Given the description of an element on the screen output the (x, y) to click on. 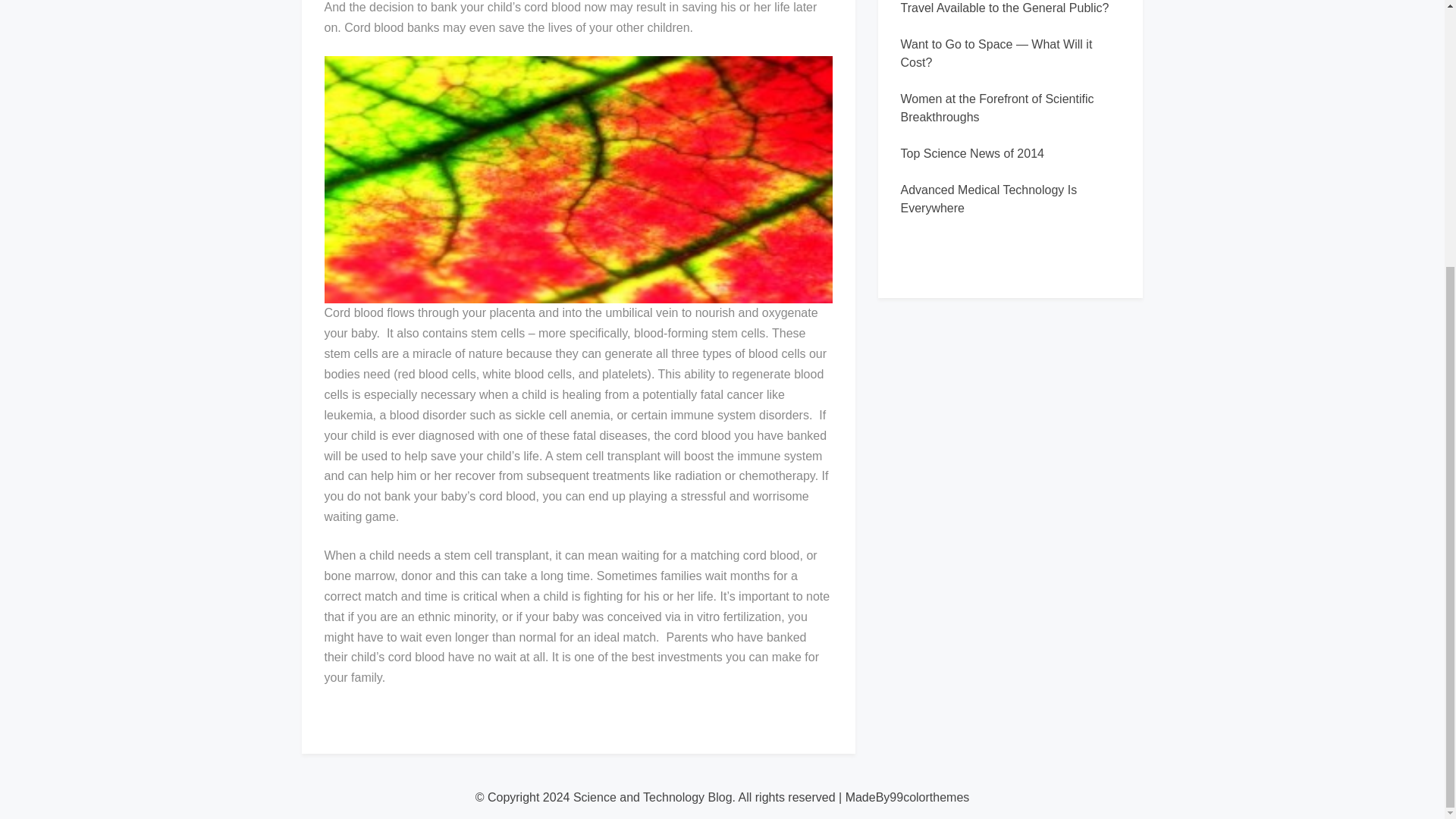
99colorthemes (929, 797)
Science and Technology Blog (652, 797)
Women at the Forefront of Scientific Breakthroughs (997, 107)
Top Science News of 2014 (972, 153)
Advanced Medical Technology Is Everywhere (989, 198)
